Given the description of an element on the screen output the (x, y) to click on. 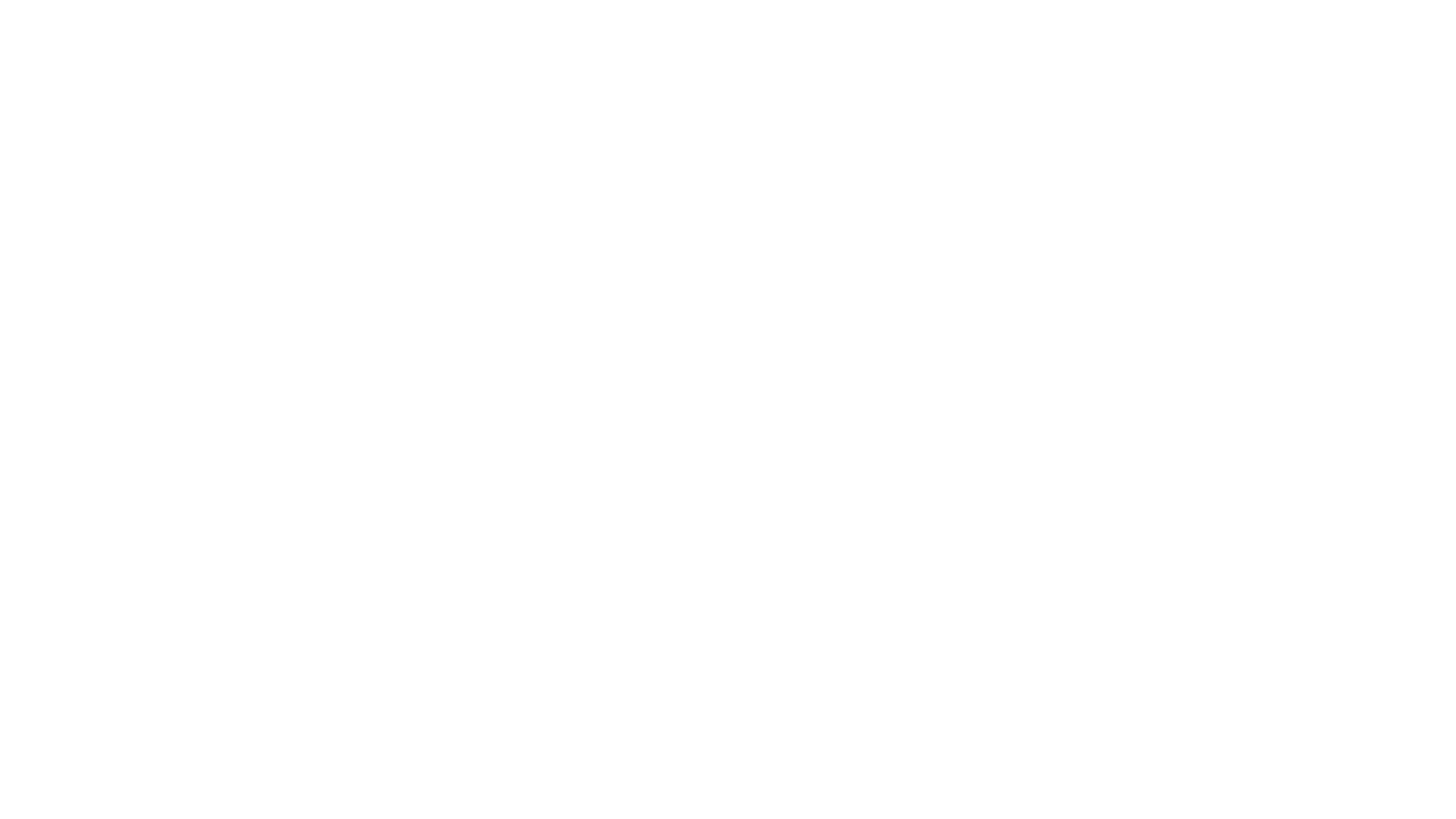
News Element type: text (413, 285)
Our Property Element type: text (413, 88)
Gallery Element type: text (413, 252)
Australian Whites Element type: text (413, 154)
Contact Us Element type: text (413, 318)
Poll Herefords Element type: text (413, 219)
BizBoost Element type: text (867, 639)
Wiltipolls Element type: text (413, 187)
History and Background Element type: text (413, 121)
howescreekhills@gmail.com Element type: text (659, 194)
